Given the description of an element on the screen output the (x, y) to click on. 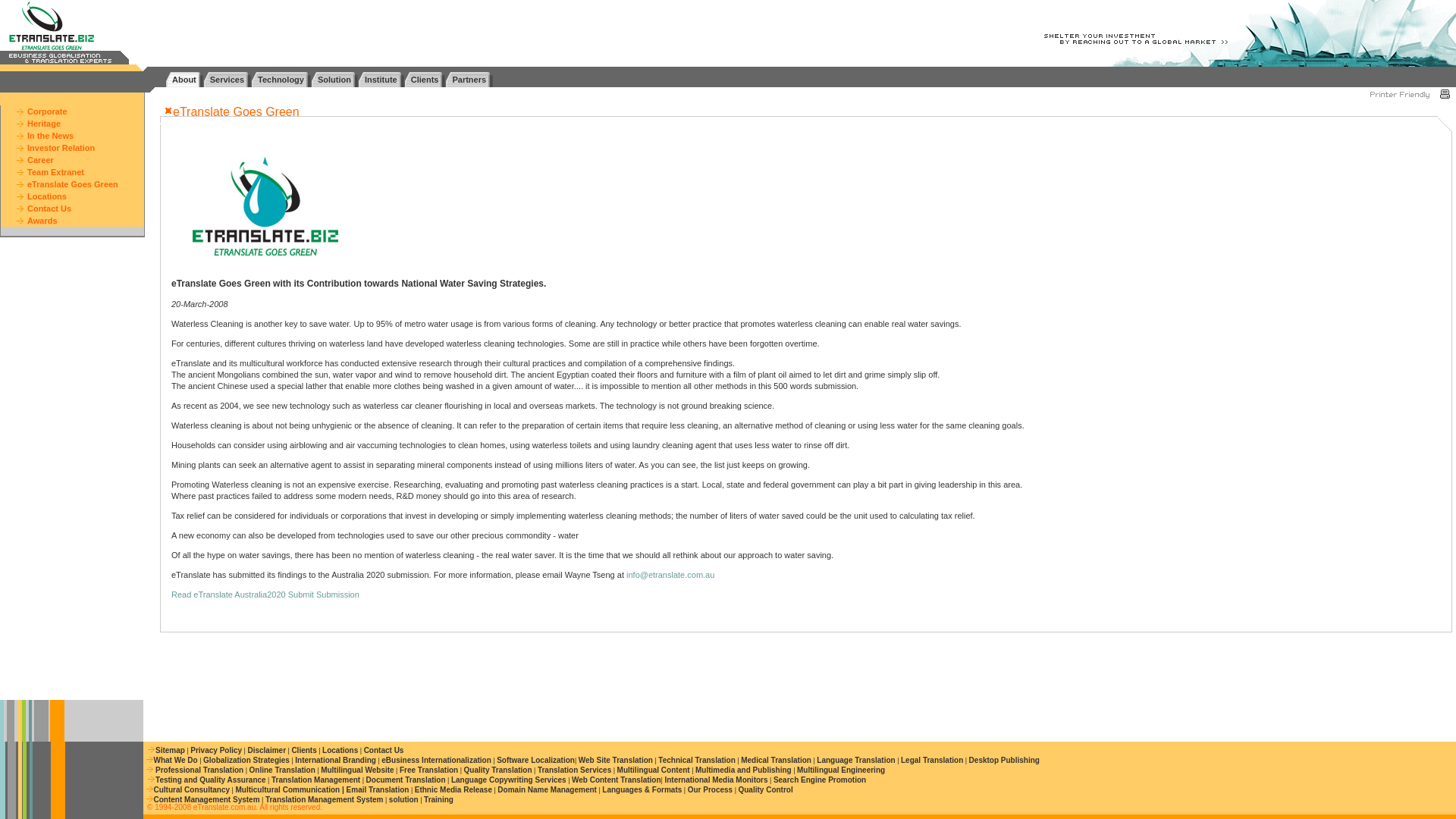
Corporate (46, 111)
Heritage (44, 122)
Team Extranet (55, 171)
Software Localization (535, 759)
Desktop Publishing (1004, 759)
Awards (42, 220)
Language Translation (855, 759)
Professional Translation (199, 769)
Privacy Policy (215, 750)
Globalization Strategies (246, 759)
Partners (468, 78)
Sitemap (169, 750)
Career (40, 159)
In the News (50, 135)
Technical Translation (696, 759)
